Given the description of an element on the screen output the (x, y) to click on. 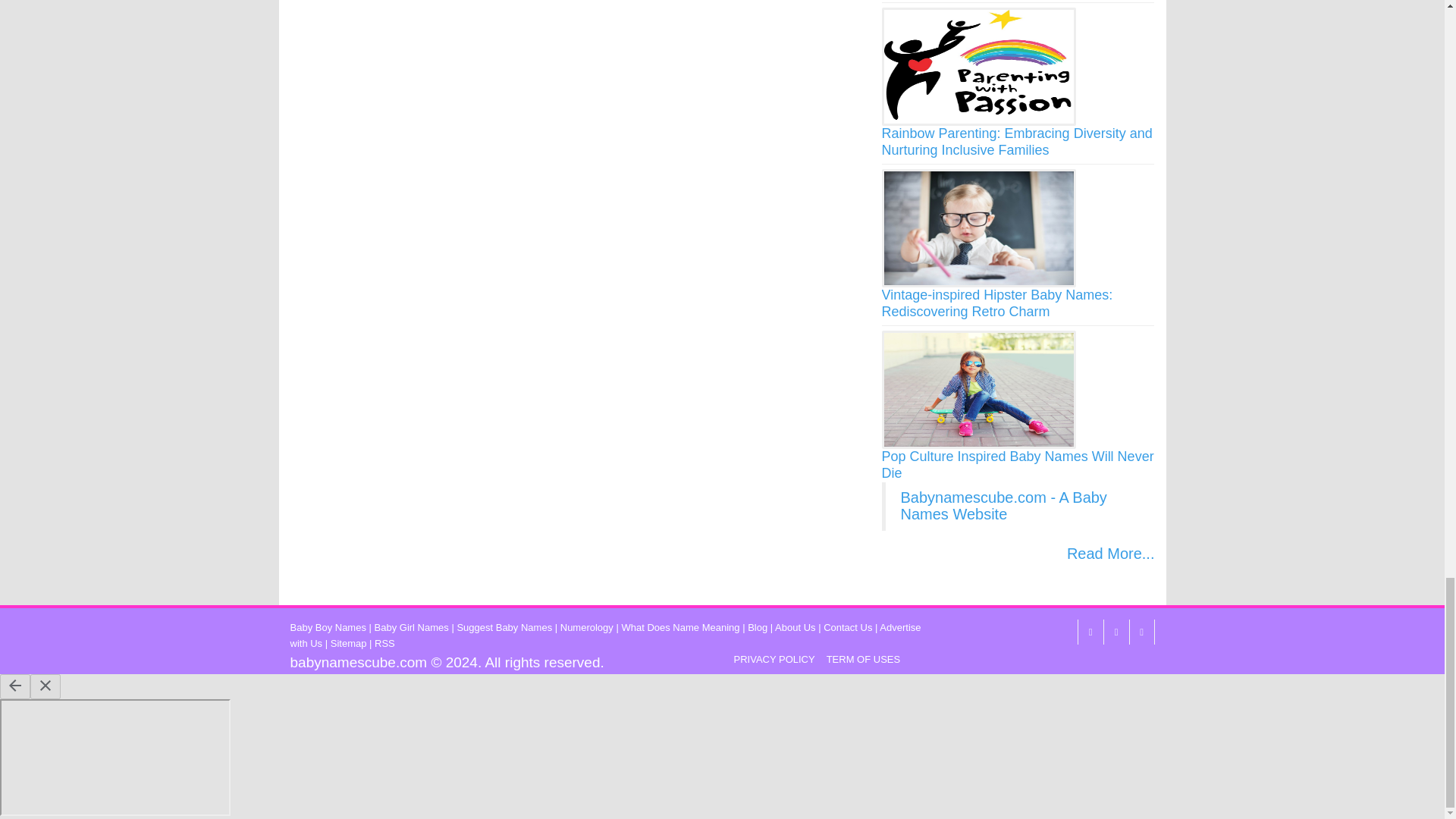
Facebook (1089, 631)
Google Plus (1141, 631)
Twitter (1115, 631)
